Given the description of an element on the screen output the (x, y) to click on. 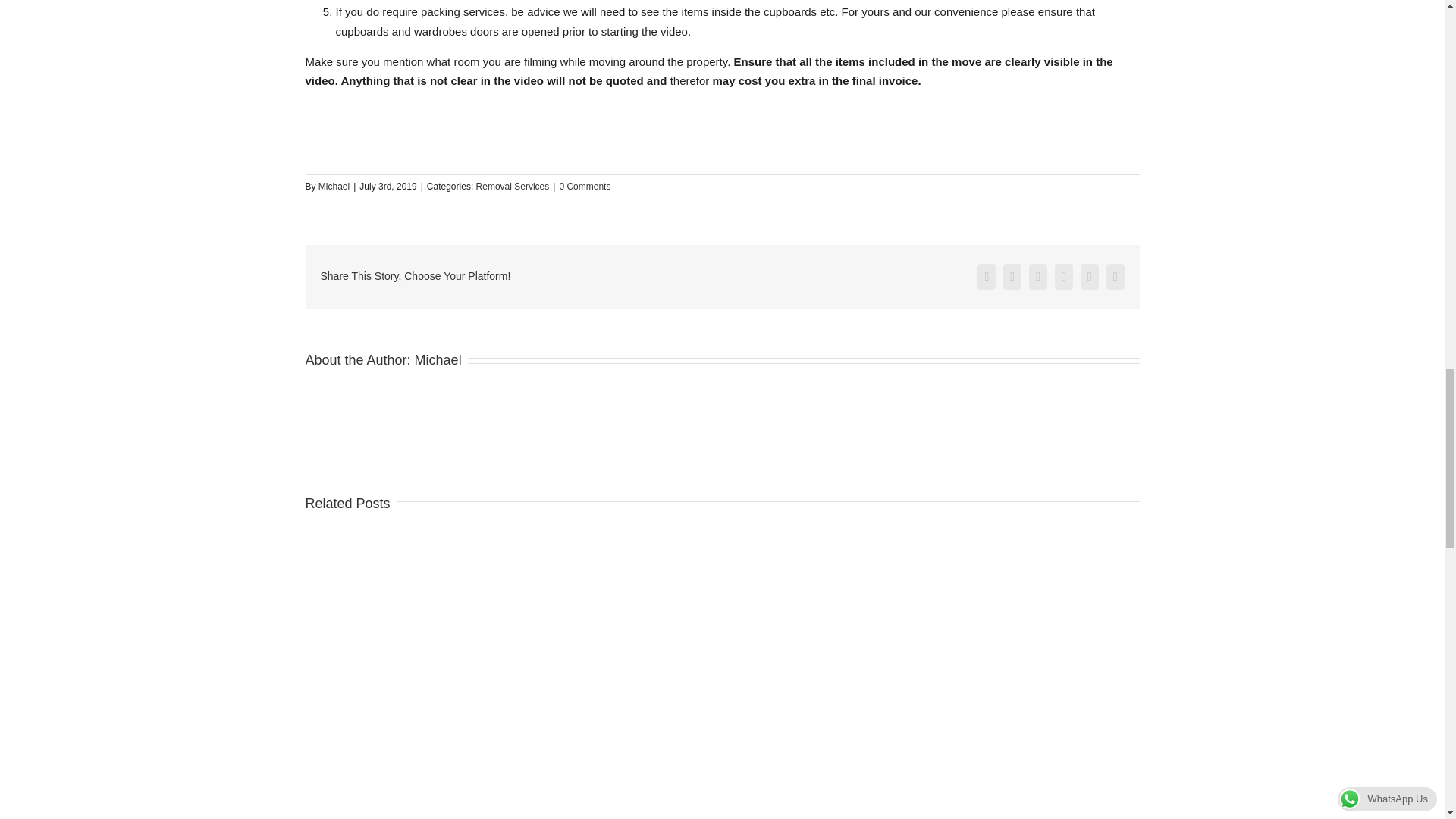
Michael (333, 185)
Posts by Michael (437, 359)
Removal Services (513, 185)
Posts by Michael (333, 185)
